Given the description of an element on the screen output the (x, y) to click on. 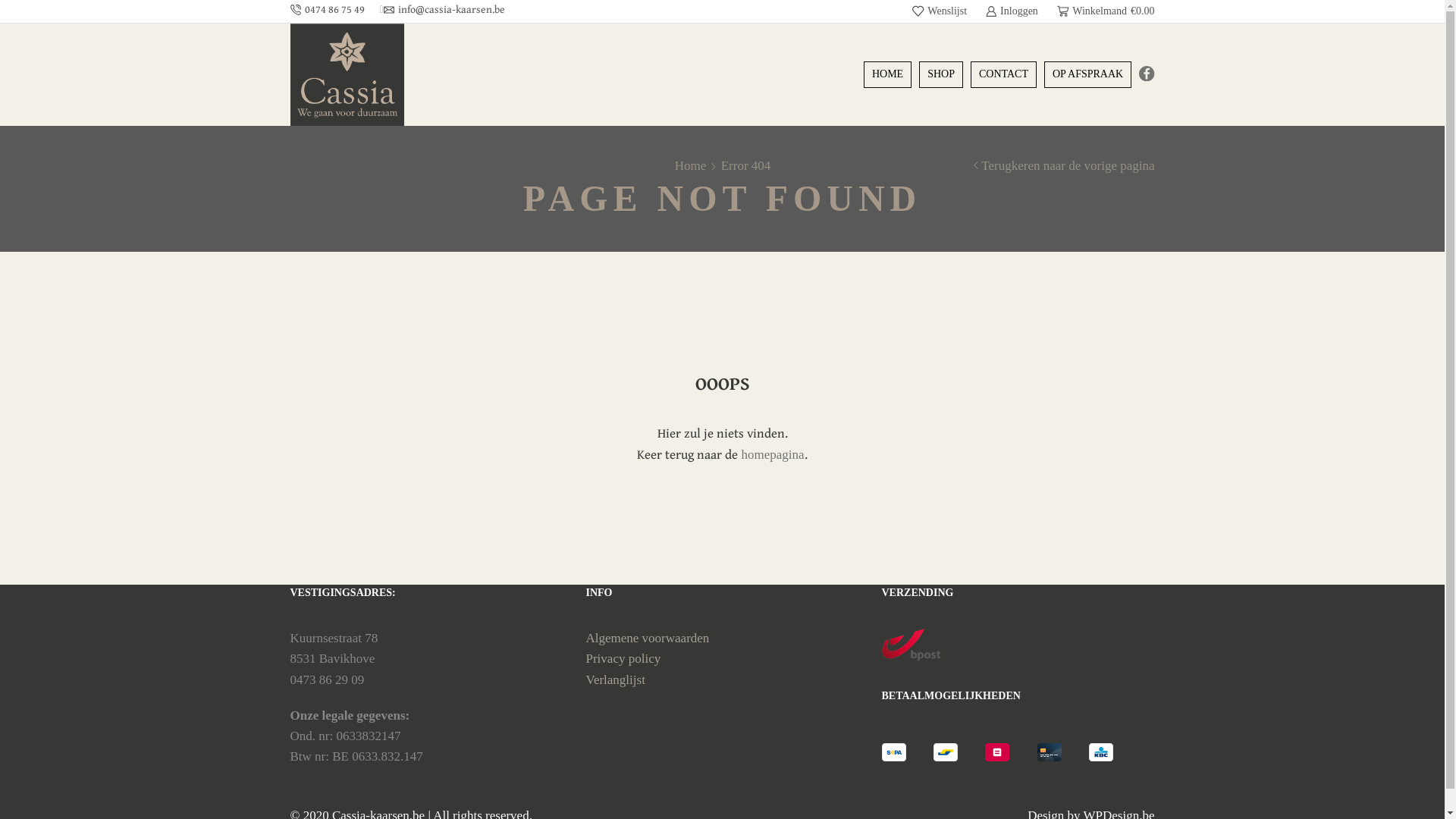
Privacy policy Element type: text (622, 658)
Algemene voorwaarden Element type: text (647, 637)
OP AFSPRAAK Element type: text (1087, 74)
homepagina Element type: text (771, 454)
Verlanglijst Element type: text (614, 679)
Terugkeren naar de vorige pagina Element type: text (1067, 165)
SHOP Element type: text (941, 74)
Home Element type: text (690, 165)
CONTACT Element type: text (1003, 74)
Inloggen Element type: text (1011, 11)
Log in Element type: text (946, 254)
Wenslijst Element type: text (939, 11)
HOME Element type: text (887, 74)
